Given the description of an element on the screen output the (x, y) to click on. 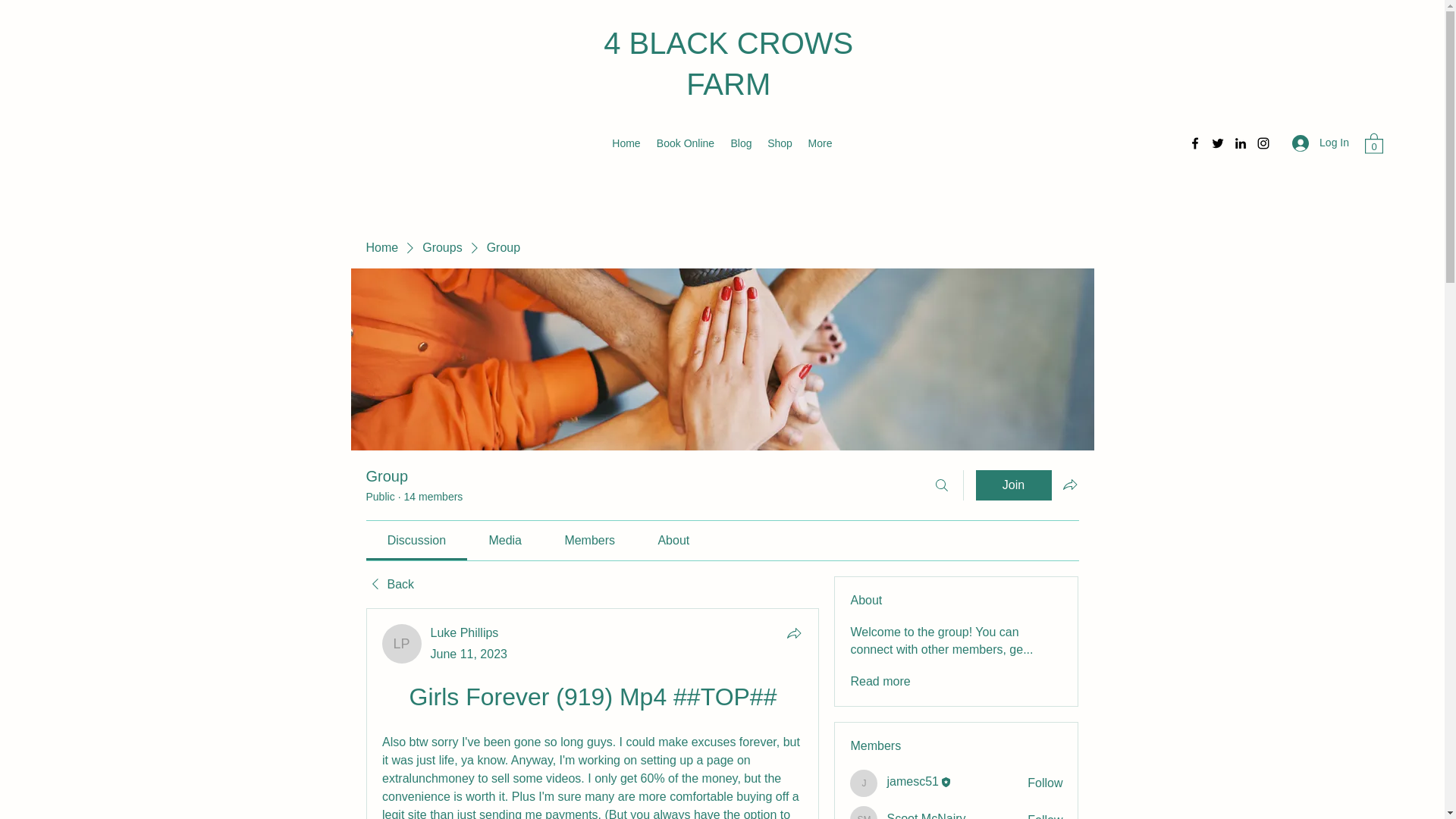
Follow (1044, 815)
Home (381, 247)
Luke Phillips (464, 632)
Join (1013, 485)
Blog (741, 142)
Groups (441, 247)
Home (625, 142)
Read more (880, 681)
Shop (779, 142)
Scoot McNairy (863, 812)
